Given the description of an element on the screen output the (x, y) to click on. 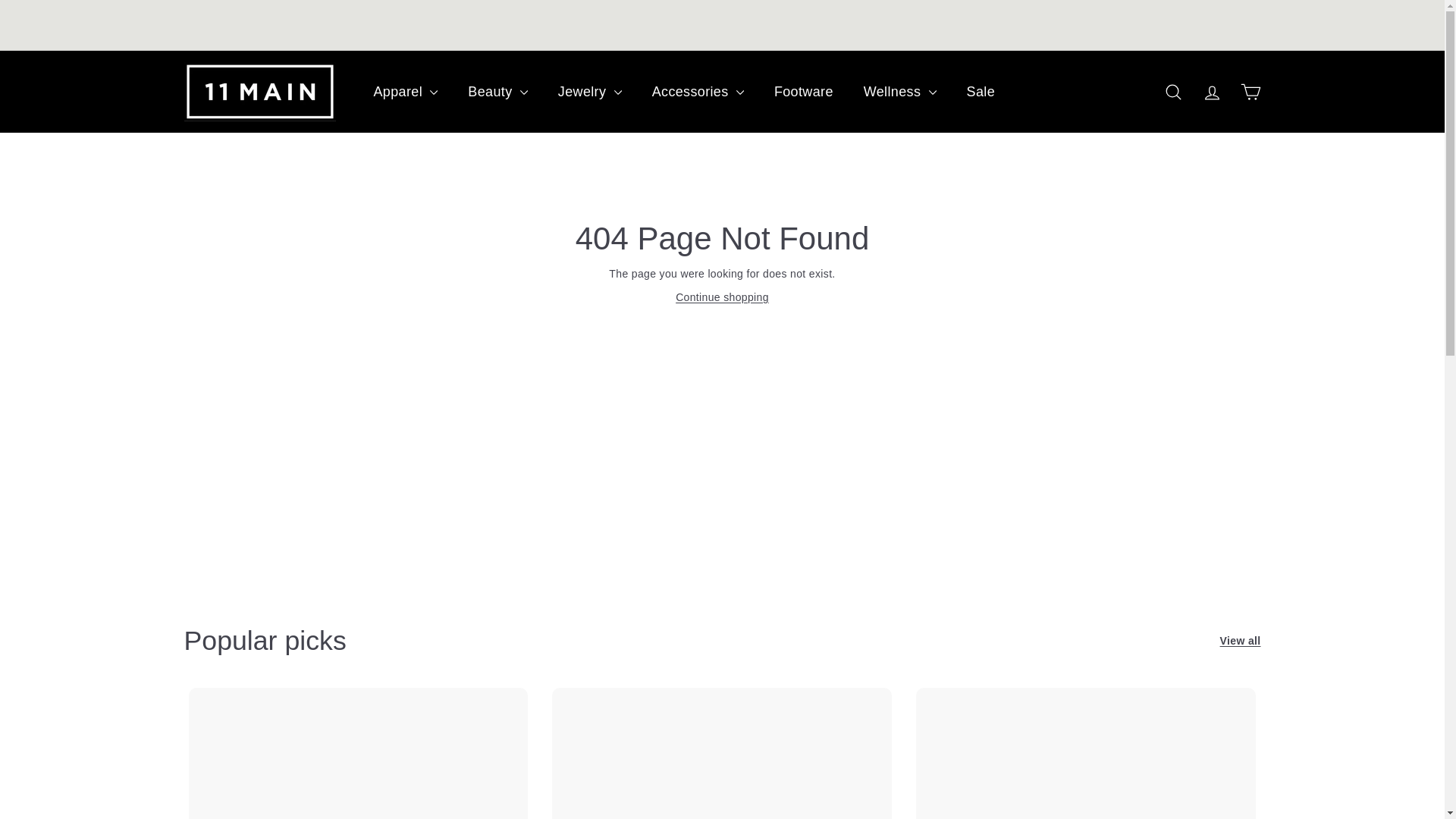
Sale (981, 91)
Footware (803, 91)
